Given the description of an element on the screen output the (x, y) to click on. 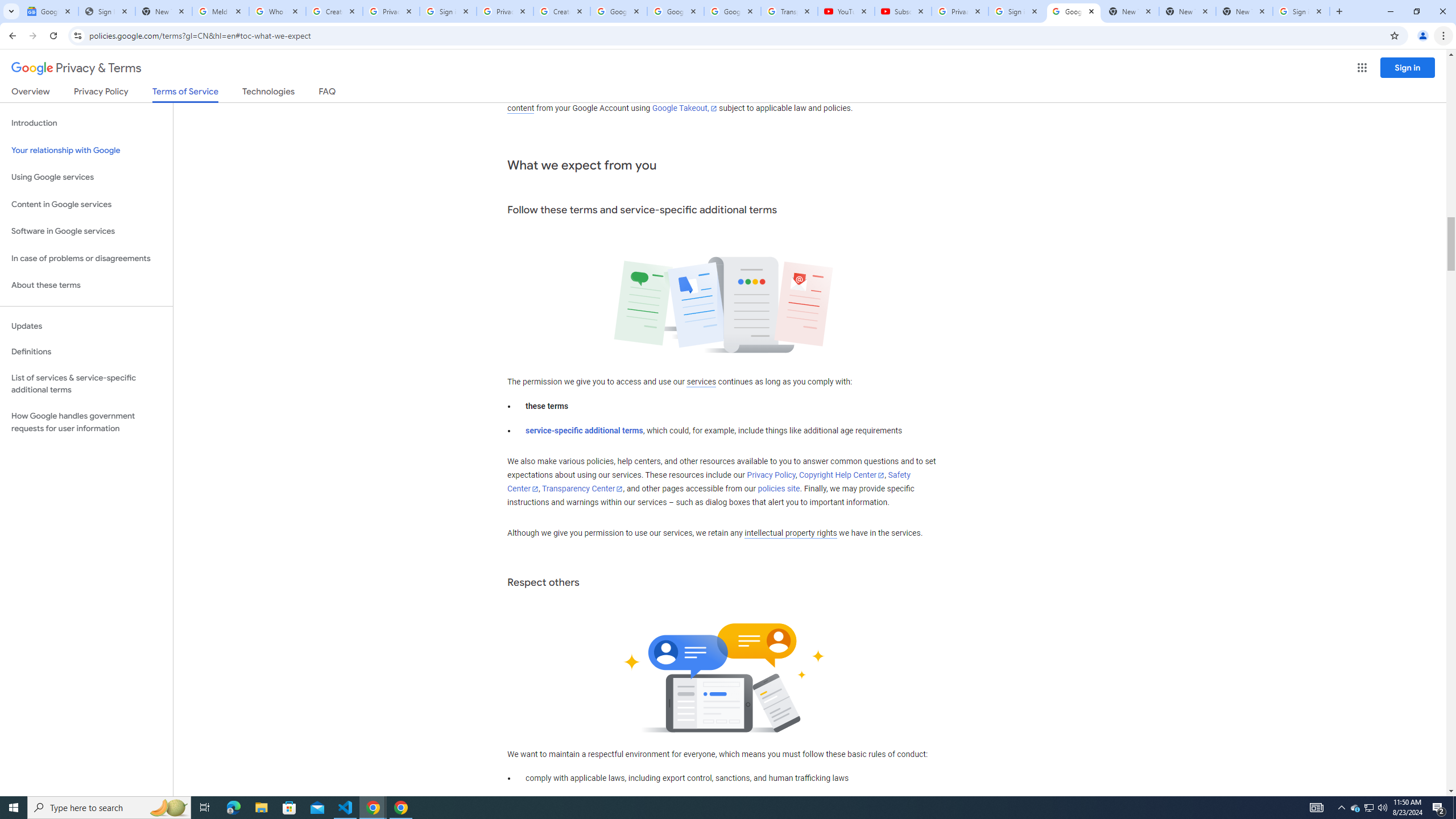
Software in Google services (86, 230)
Sign in - Google Accounts (447, 11)
Sign in - Google Accounts (1015, 11)
Who is my administrator? - Google Account Help (277, 11)
How Google handles government requests for user information (86, 422)
